Given the description of an element on the screen output the (x, y) to click on. 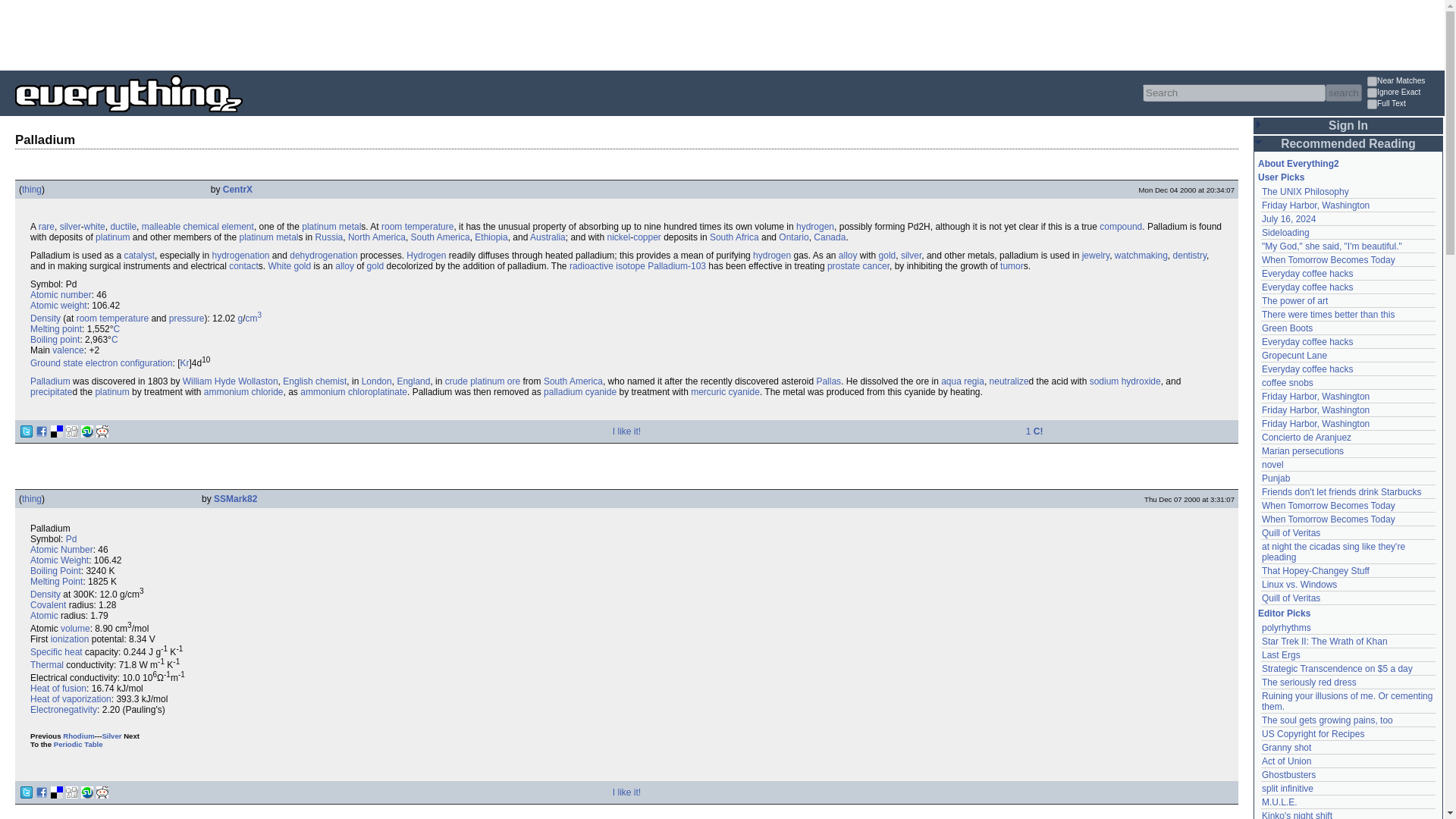
Ethiopia (490, 236)
Advertisement (275, 33)
watchmaking (1141, 255)
search (1342, 92)
room temperature (416, 226)
Ontario (793, 236)
rare (47, 226)
white (94, 226)
Search for text within writeups (1404, 104)
platinum metal (331, 226)
silver (70, 226)
search (1342, 92)
platinum (112, 236)
ductile (123, 226)
alloy (847, 255)
